Given the description of an element on the screen output the (x, y) to click on. 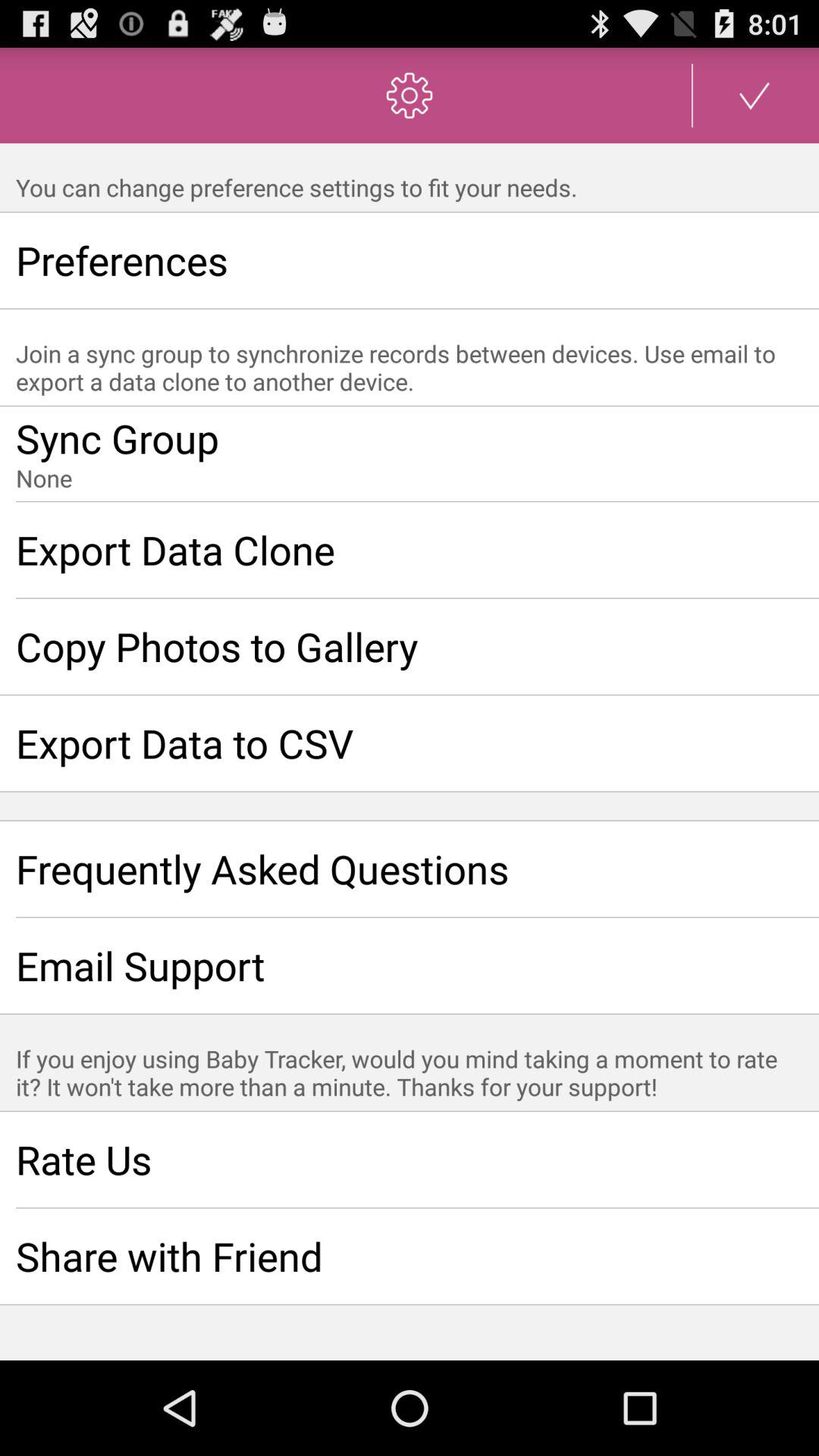
open preferences item (409, 260)
